Given the description of an element on the screen output the (x, y) to click on. 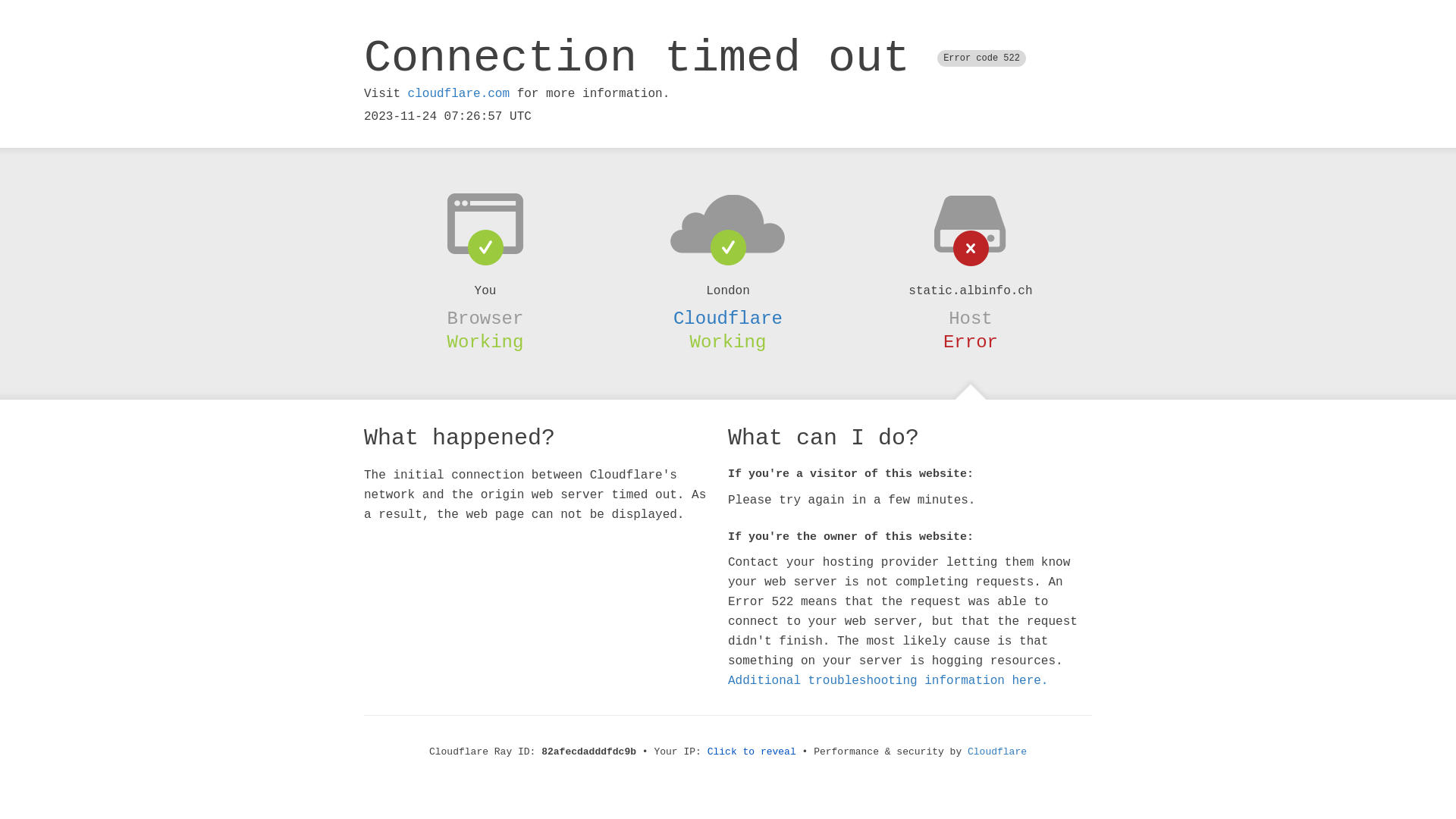
cloudflare.com Element type: text (458, 93)
Cloudflare Element type: text (727, 318)
Additional troubleshooting information here. Element type: text (888, 680)
Click to reveal Element type: text (751, 751)
Cloudflare Element type: text (996, 751)
